Given the description of an element on the screen output the (x, y) to click on. 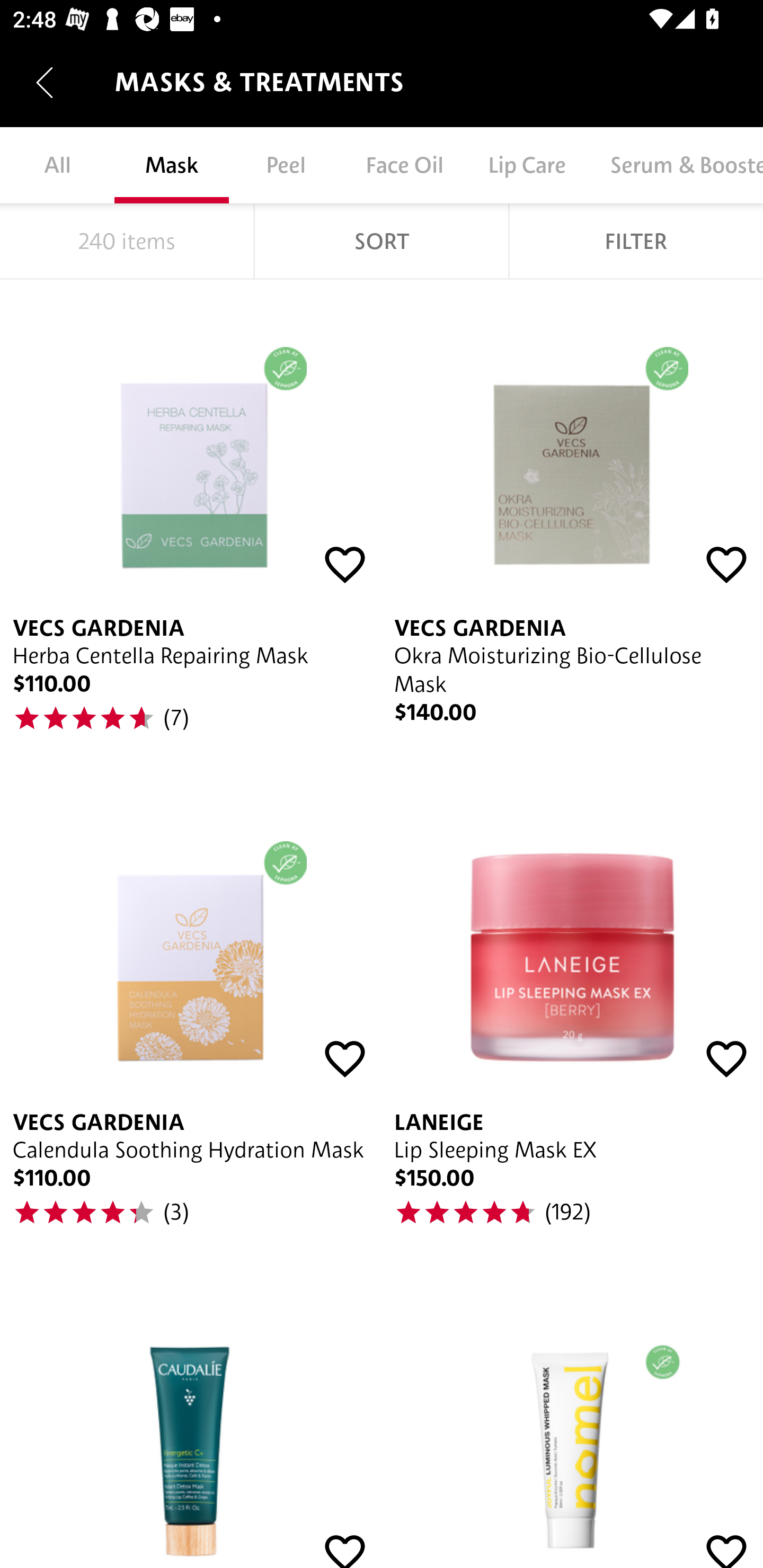
Navigate up (44, 82)
All (57, 165)
Peel (285, 165)
Face Oil (404, 165)
Lip Care (526, 165)
Serum & Booster (675, 165)
SORT (381, 241)
FILTER (636, 241)
LANEIGE Lip Sleeping Mask EX $150.00 47.0 (192) (572, 1021)
